Given the description of an element on the screen output the (x, y) to click on. 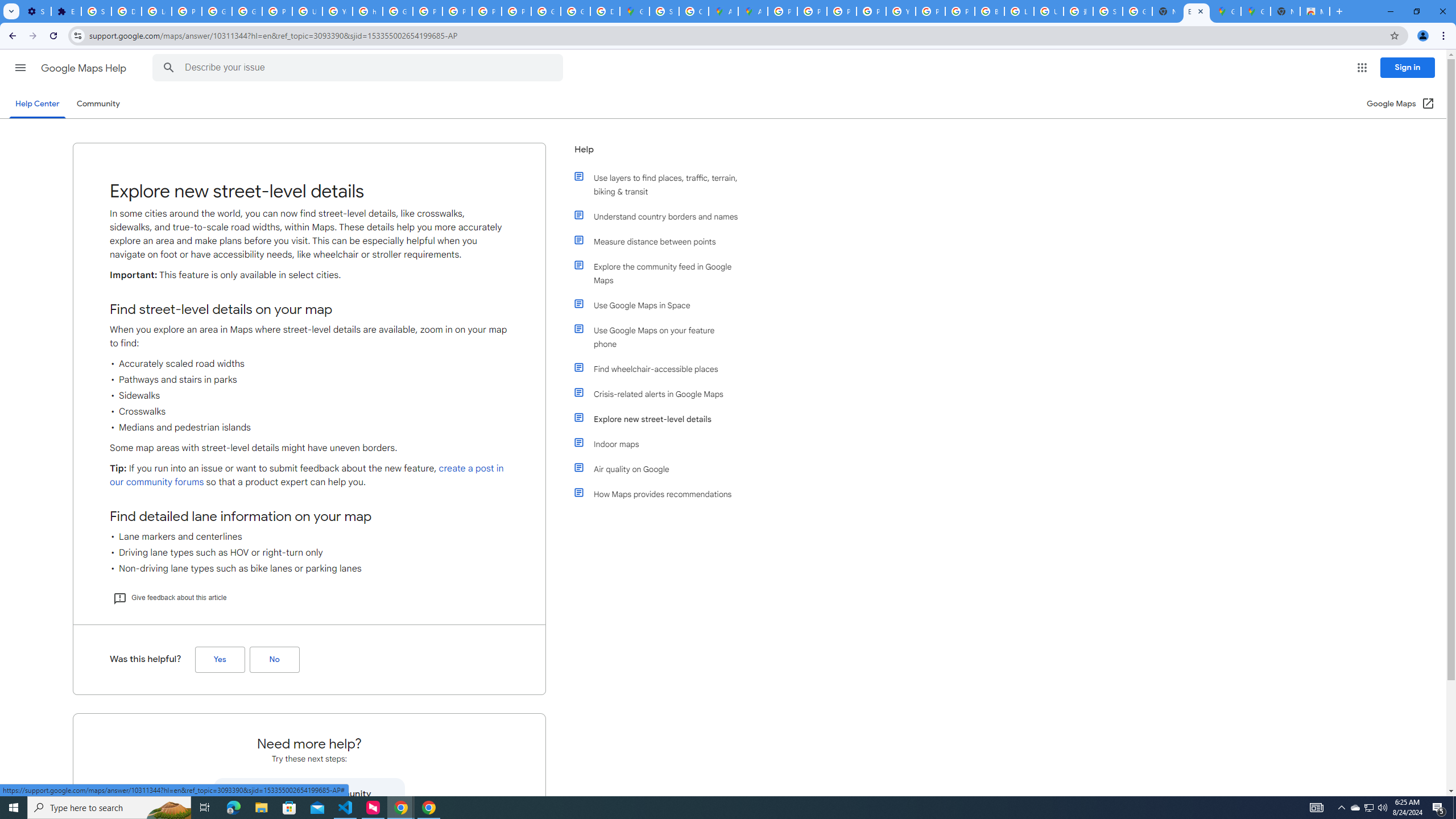
Google Account Help (216, 11)
Air quality on Google (661, 469)
Understand country borders and names (661, 216)
Delete photos & videos - Computer - Google Photos Help (126, 11)
No (Was this helpful?) (273, 660)
Policy Accountability and Transparency - Transparency Center (782, 11)
How Maps provides recommendations (661, 493)
Google Maps (634, 11)
